Given the description of an element on the screen output the (x, y) to click on. 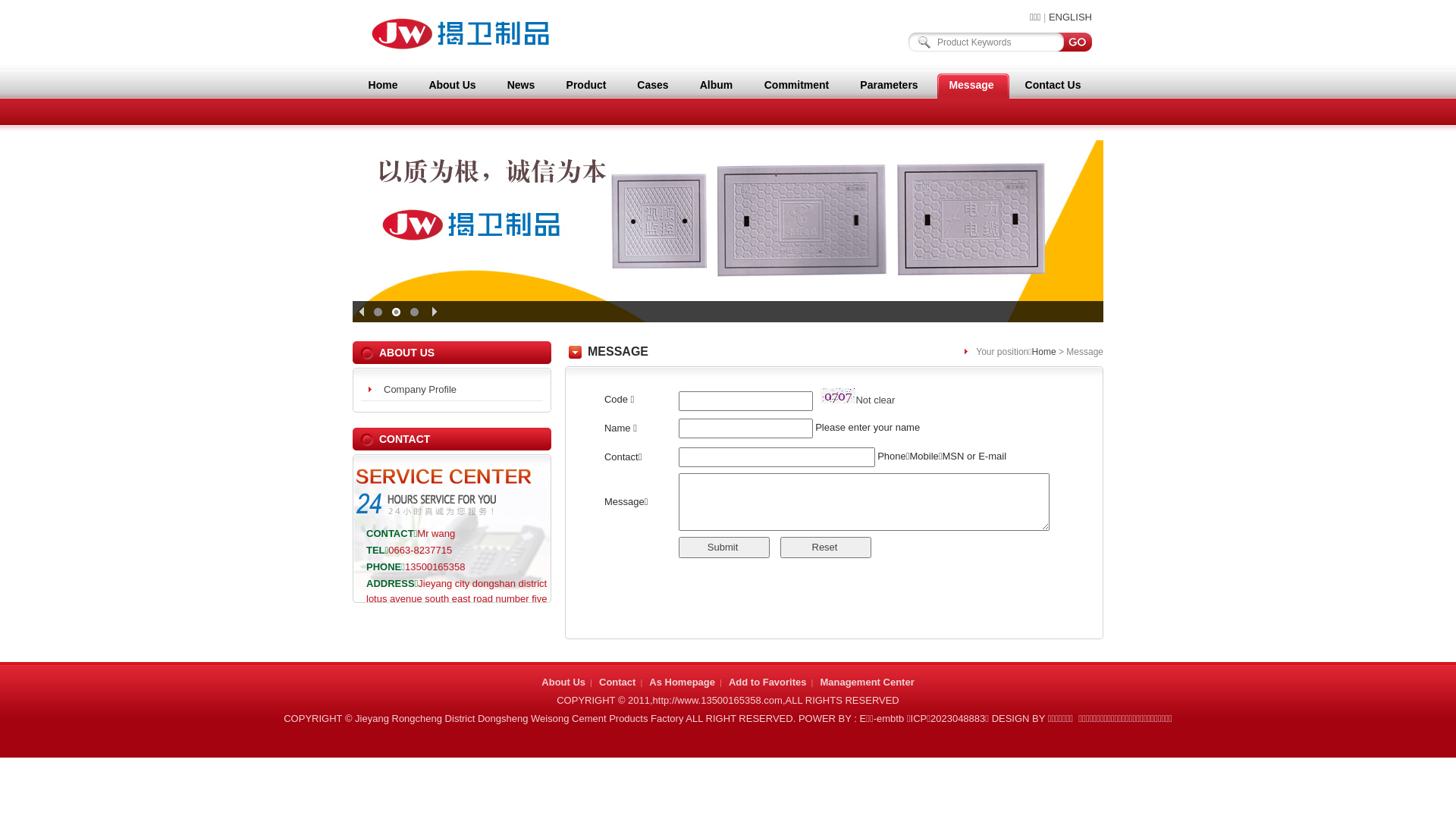
Product Element type: text (586, 84)
Management Center Element type: text (866, 681)
Submit Element type: text (723, 547)
Home Element type: text (1044, 351)
Contact Element type: text (617, 681)
Album Element type: text (715, 84)
Not clear Element type: text (874, 399)
Commitment Element type: text (796, 84)
As Homepage Element type: text (682, 681)
Parameters Element type: text (888, 84)
Contact Us Element type: text (1052, 84)
Cases Element type: text (652, 84)
Add to Favorites Element type: text (767, 681)
About Us Element type: text (563, 681)
Home Element type: text (382, 84)
About Us Element type: text (452, 84)
Message Element type: text (971, 84)
ENGLISH Element type: text (1070, 16)
News Element type: text (520, 84)
Company Profile Element type: text (451, 389)
